Given the description of an element on the screen output the (x, y) to click on. 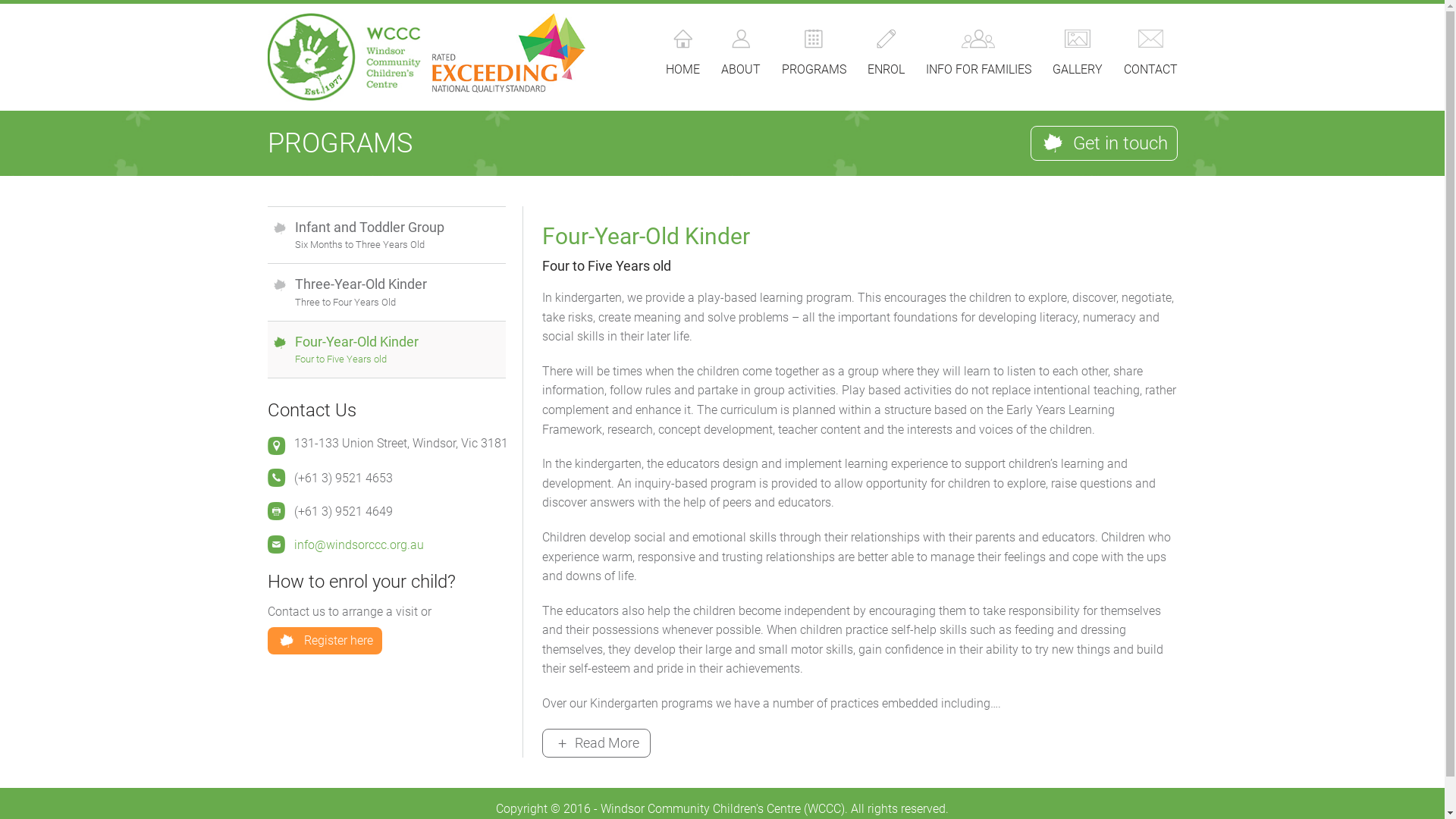
Three-Year-Old Kinder
Three to Four Years Old Element type: text (385, 291)
Register here Element type: text (323, 640)
Get in touch Element type: text (1102, 142)
Infant and Toddler Group
Six Months to Three Years Old Element type: text (385, 234)
info@windsorccc.org.au Element type: text (358, 544)
ABOUT Element type: text (739, 56)
PROGRAMS Element type: text (813, 56)
WCCC Element type: hover (343, 56)
Four-Year-Old Kinder
Four to Five Years old Element type: text (385, 349)
HOME Element type: text (682, 56)
ENROL Element type: text (885, 56)
CONTACT Element type: text (1150, 56)
INFO FOR FAMILIES Element type: text (977, 56)
GALLERY Element type: text (1077, 56)
Read More Element type: text (595, 742)
